Given the description of an element on the screen output the (x, y) to click on. 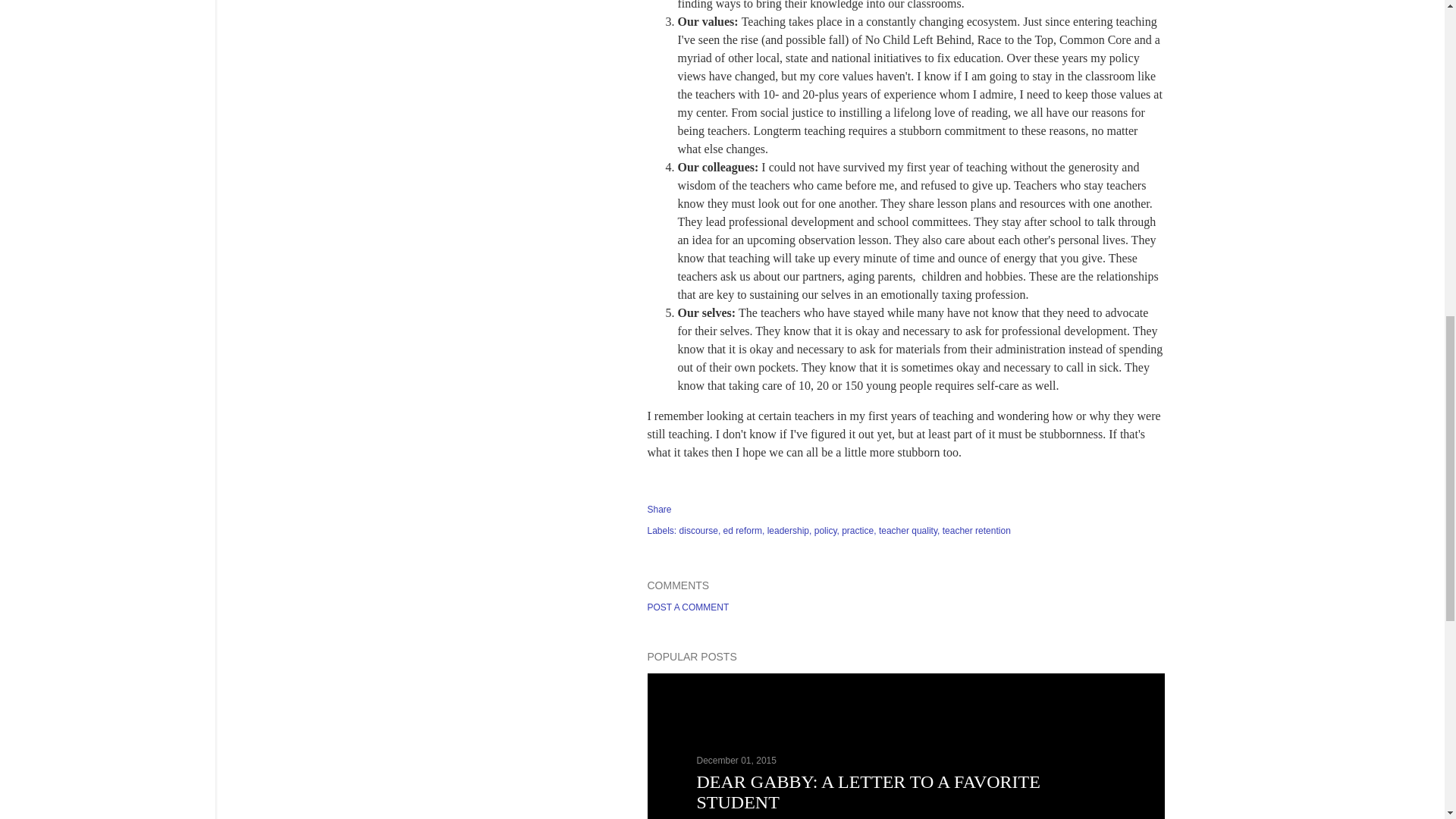
Share (659, 509)
ed reform (744, 530)
policy (826, 530)
DEAR GABBY: A LETTER TO A FAVORITE STUDENT (867, 792)
leadership (789, 530)
permanent link (735, 760)
December 01, 2015 (735, 760)
POST A COMMENT (688, 606)
teacher quality (909, 530)
discourse (699, 530)
teacher retention (976, 530)
practice (858, 530)
